Given the description of an element on the screen output the (x, y) to click on. 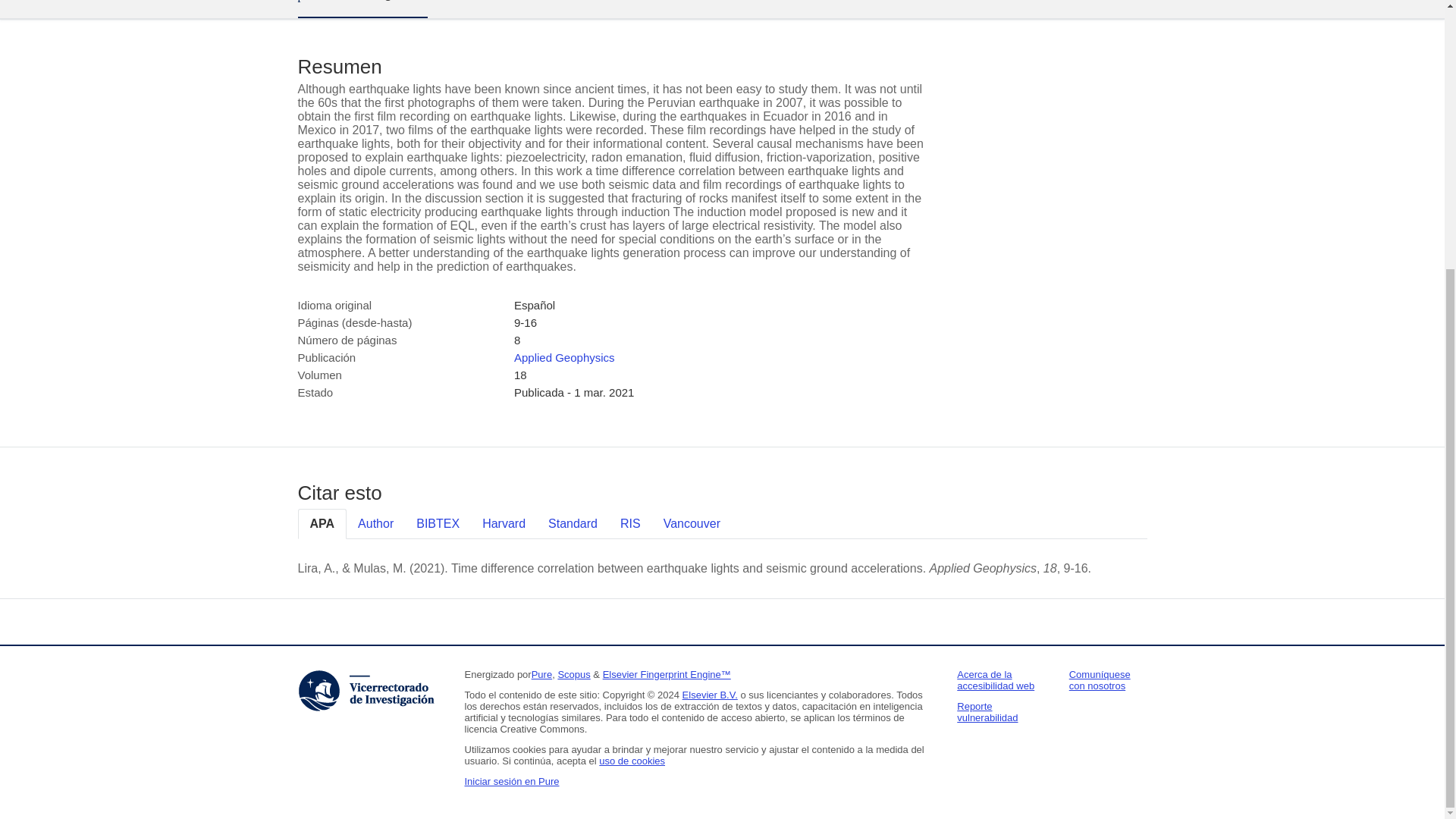
Reporte vulnerabilidad (986, 712)
Acerca de la accesibilidad web (994, 680)
Pure (541, 674)
Elsevier B.V. (710, 695)
uso de cookies (631, 760)
Applied Geophysics (563, 357)
Scopus (573, 674)
